Given the description of an element on the screen output the (x, y) to click on. 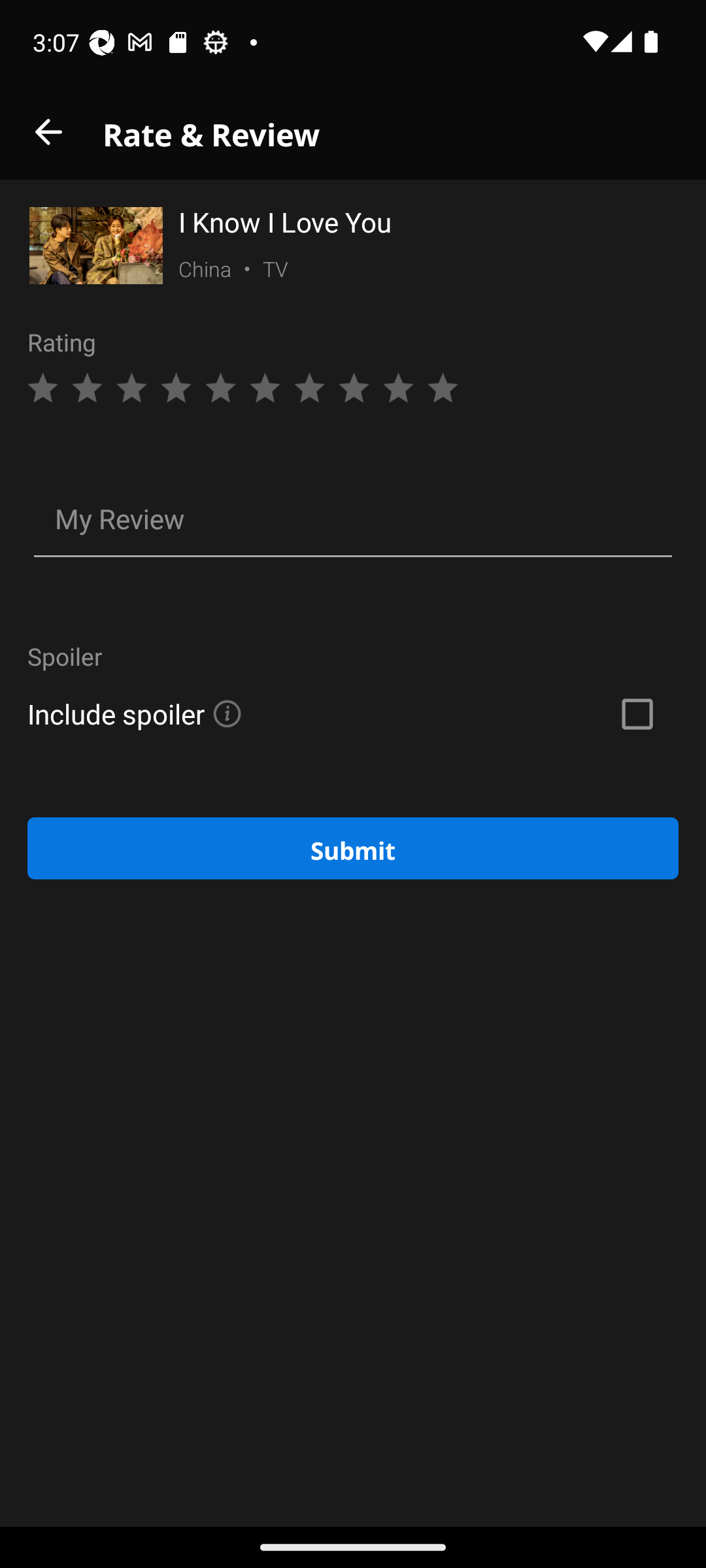
close_button (48, 131)
My Review (352, 521)
Submit (352, 847)
